Given the description of an element on the screen output the (x, y) to click on. 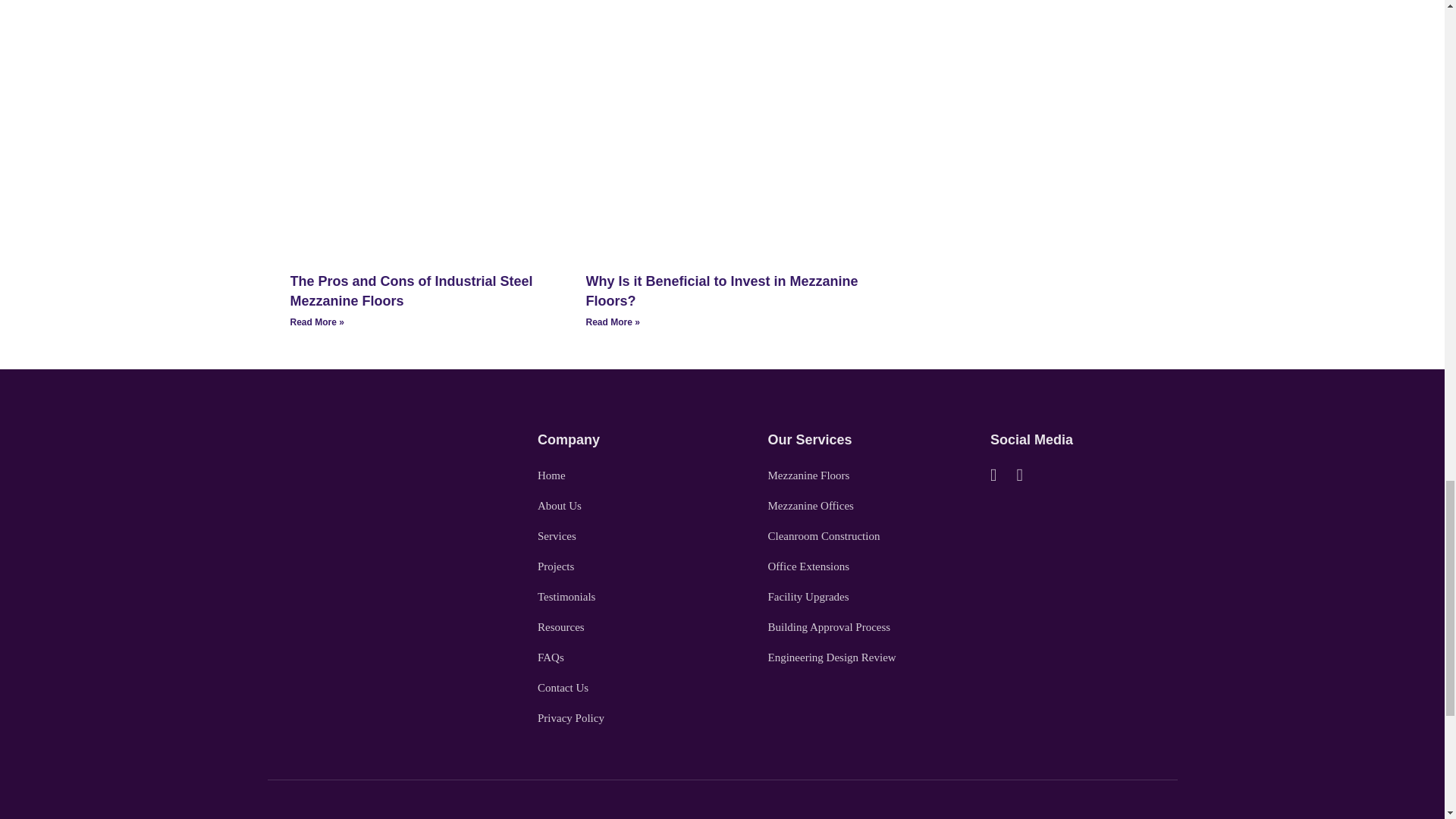
foo-logo-heighton - Heighton (344, 444)
